Given the description of an element on the screen output the (x, y) to click on. 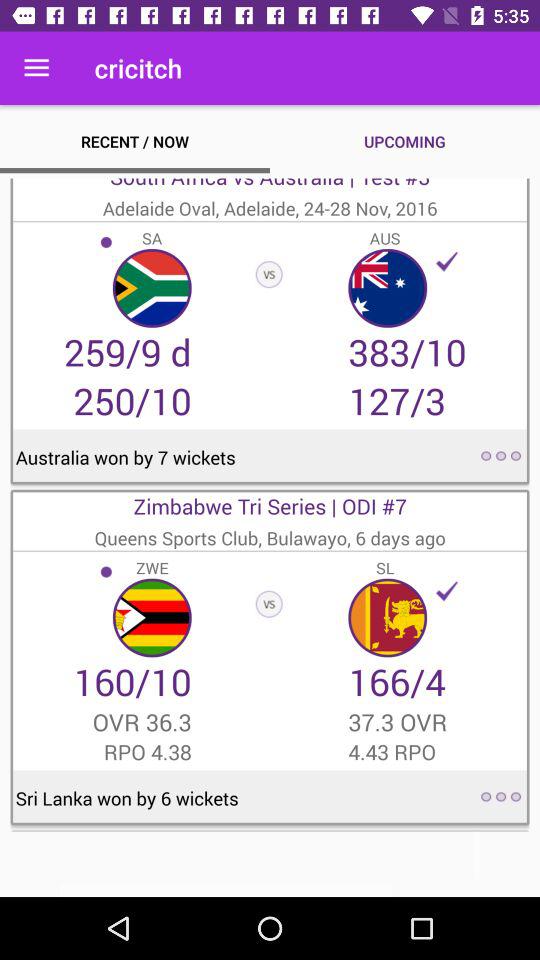
turn off the item above the south africa vs item (36, 68)
